Given the description of an element on the screen output the (x, y) to click on. 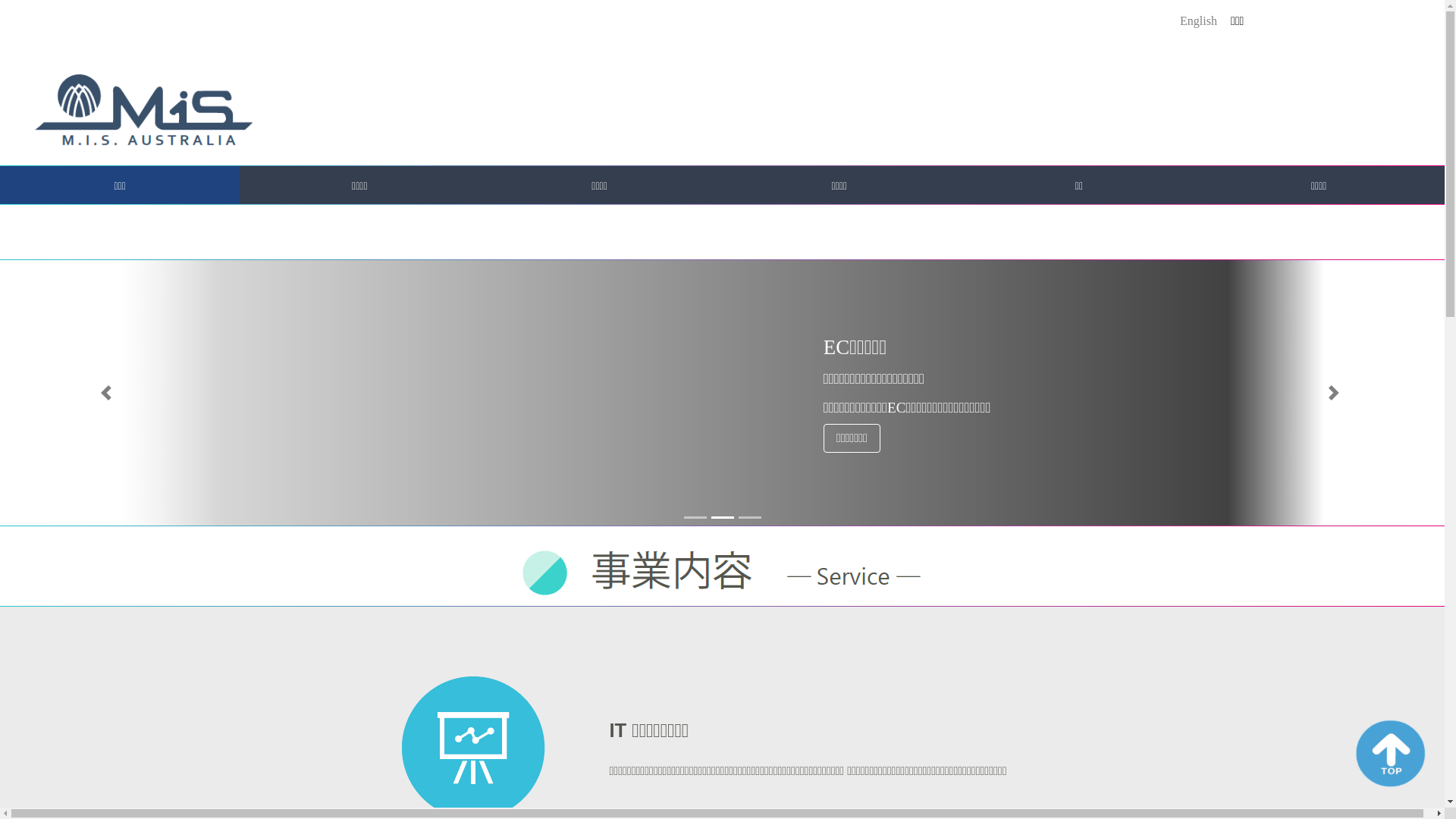
Jump to navigation Element type: text (0, 1)
English Element type: text (1198, 20)
Back to top Element type: text (0, 241)
  Next Element type: text (1335, 392)
  Previous Element type: text (108, 392)
